Given the description of an element on the screen output the (x, y) to click on. 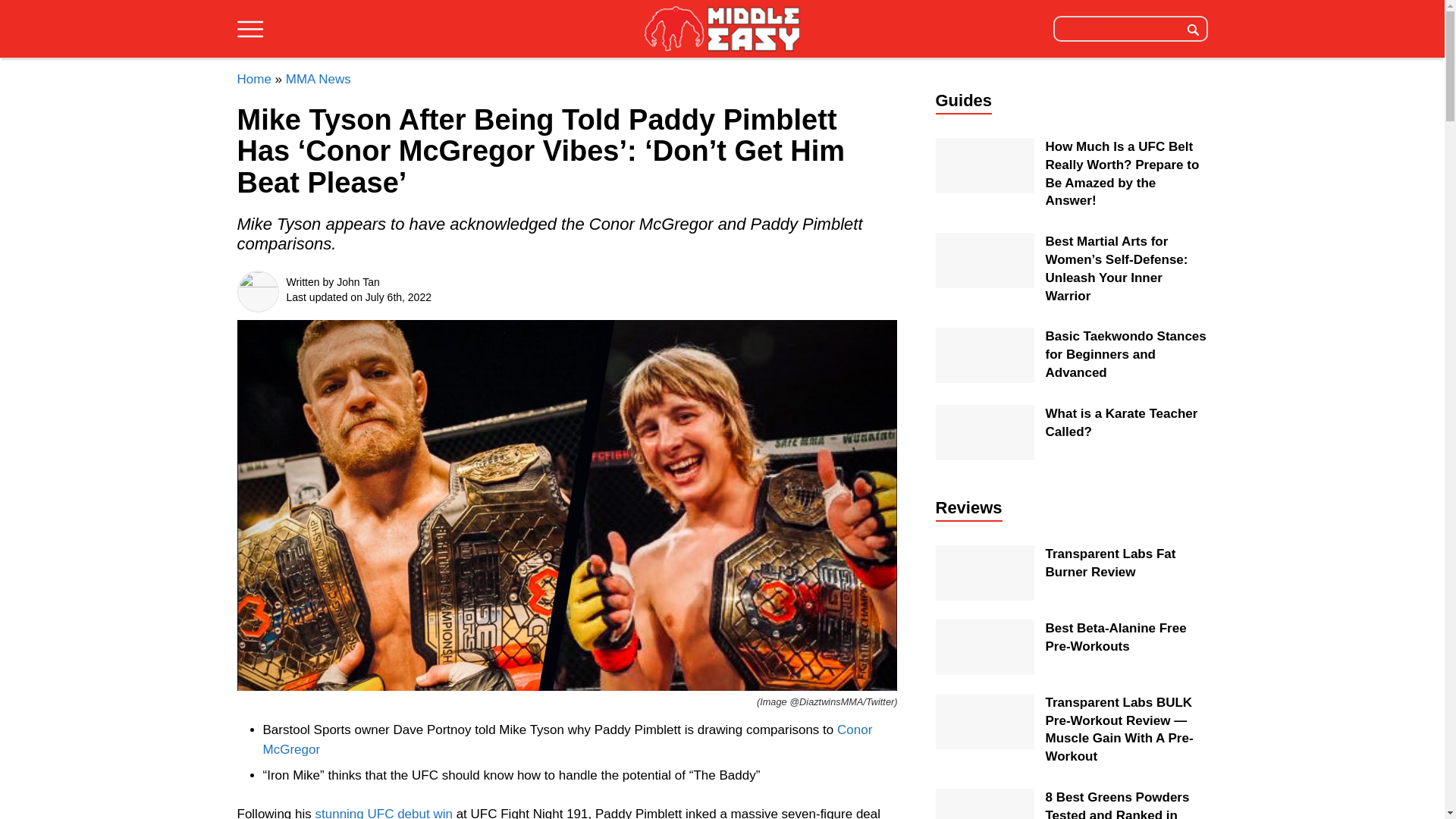
GO (1193, 28)
MiddleEasy (721, 28)
MiddleEasy (721, 29)
